Given the description of an element on the screen output the (x, y) to click on. 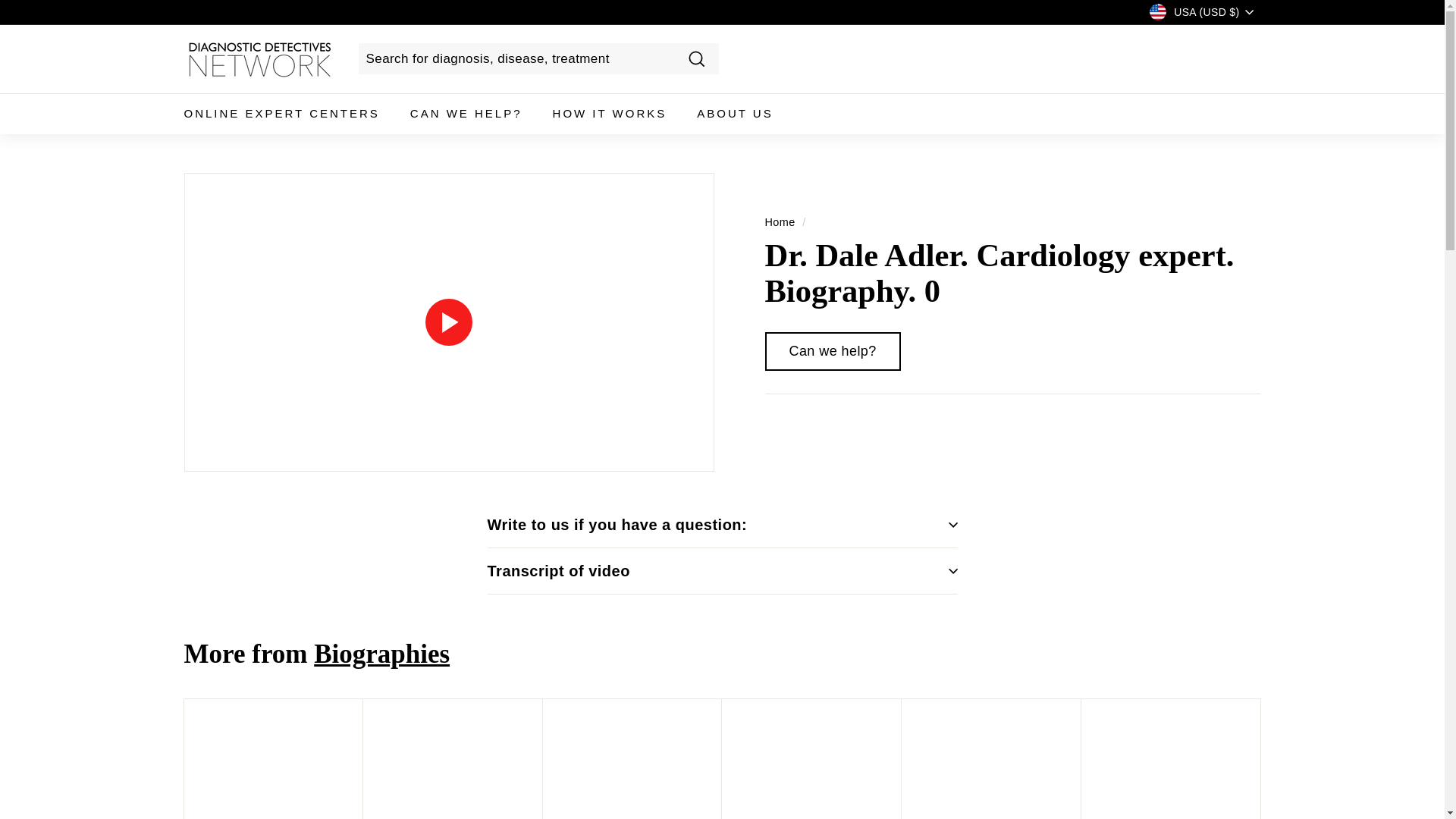
Back to the frontpage (779, 221)
ONLINE EXPERT CENTERS (281, 113)
